Given the description of an element on the screen output the (x, y) to click on. 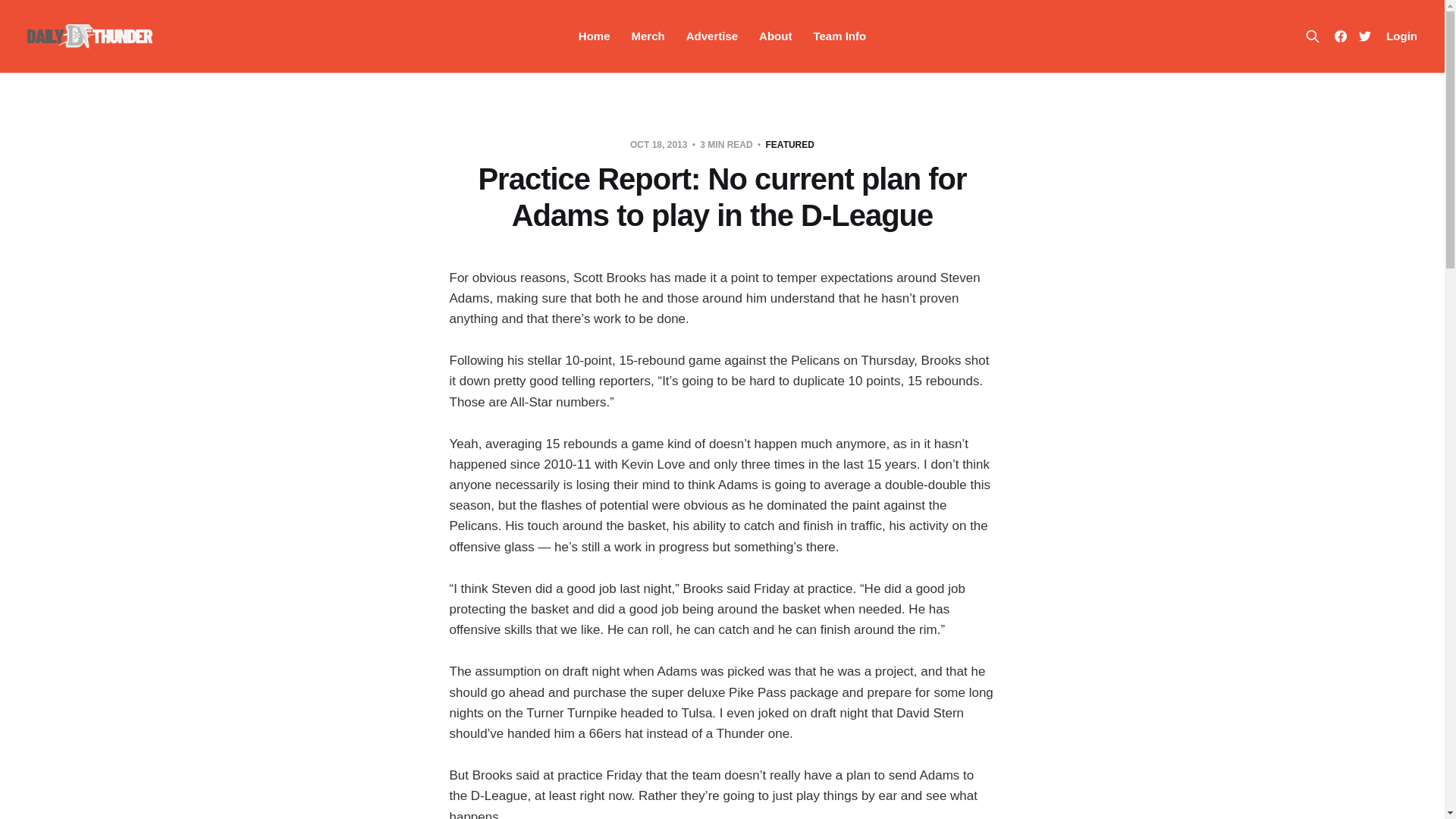
Merch (648, 35)
Login (1401, 36)
FEATURED (789, 144)
Team Info (839, 35)
Home (594, 35)
About (775, 35)
Advertise (711, 35)
